Given the description of an element on the screen output the (x, y) to click on. 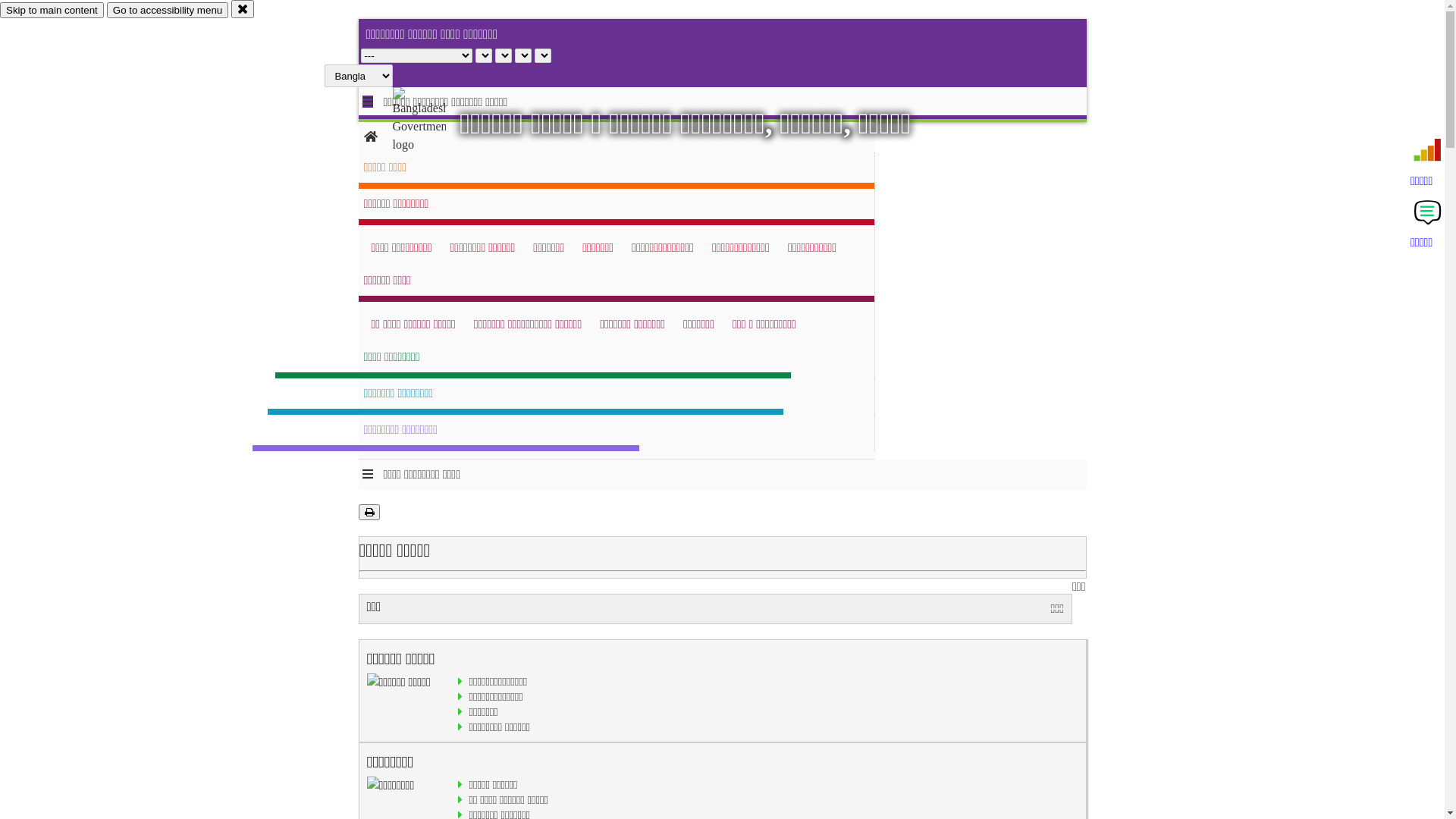
Skip to main content Element type: text (51, 10)
close Element type: hover (242, 9)

                
             Element type: hover (431, 120)
Go to accessibility menu Element type: text (167, 10)
